Given the description of an element on the screen output the (x, y) to click on. 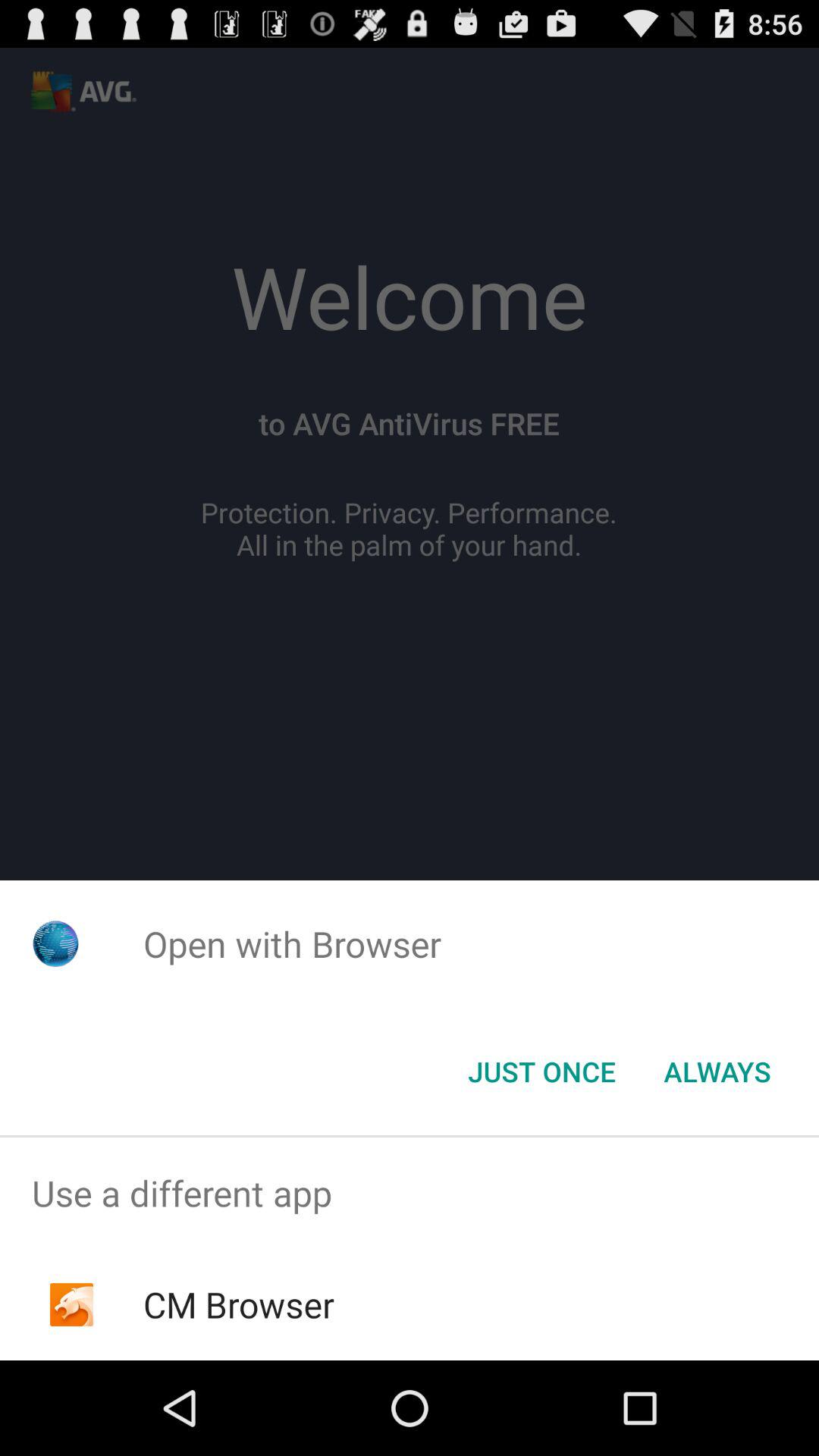
select the item below open with browser app (717, 1071)
